Given the description of an element on the screen output the (x, y) to click on. 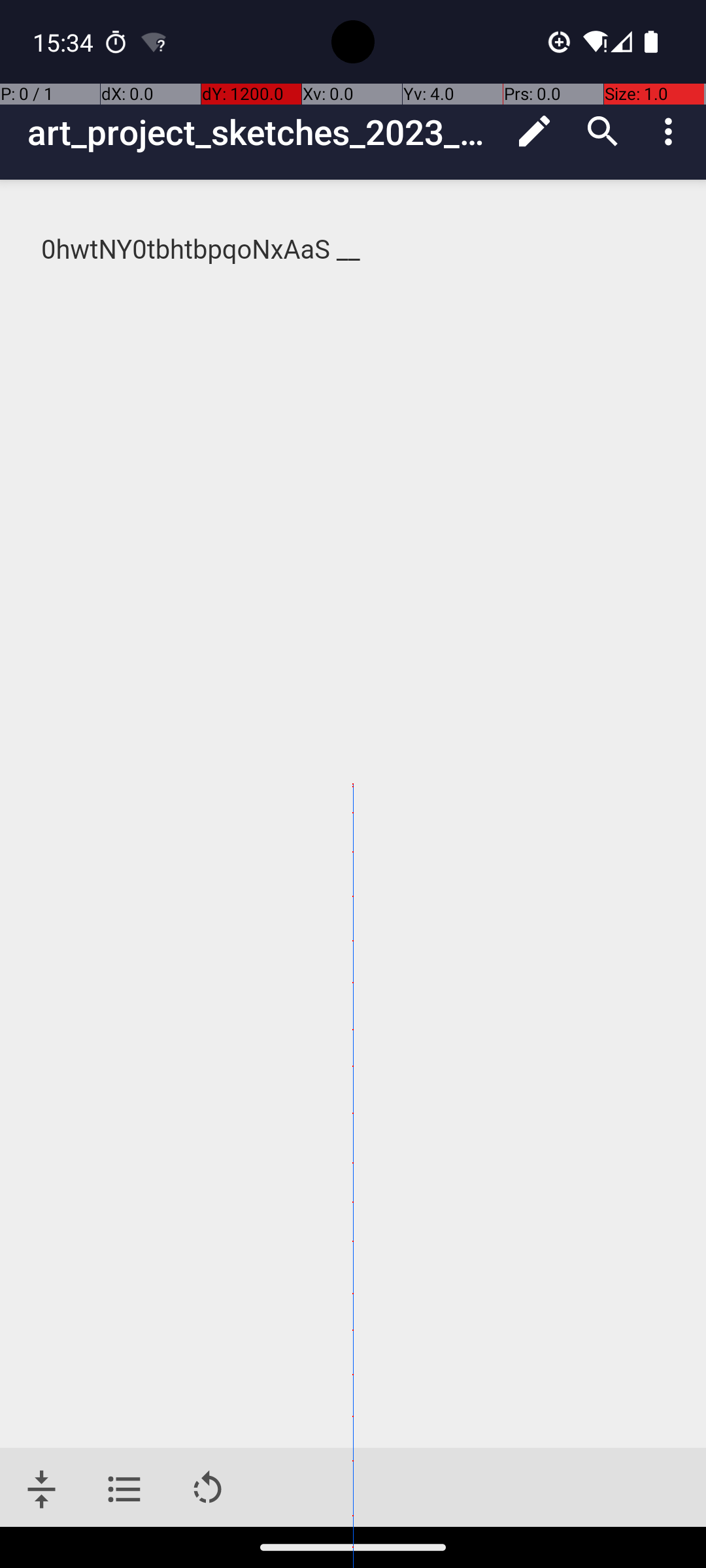
art_project_sketches_2023_04_10 Element type: android.widget.TextView (263, 131)
0hwtNY0tbhtbpqoNxAaS __ Element type: android.widget.TextView (354, 249)
